Given the description of an element on the screen output the (x, y) to click on. 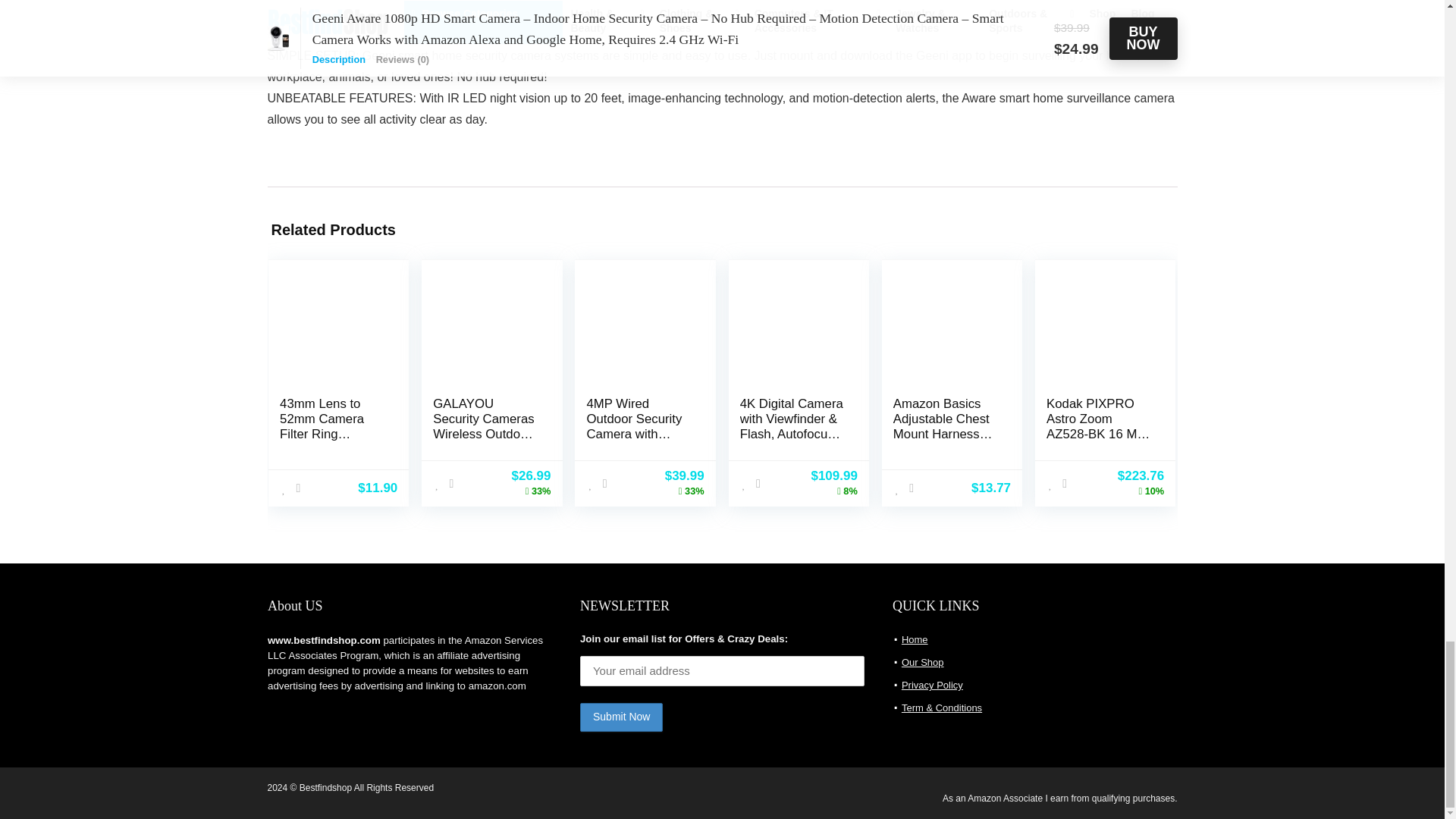
Submit Now (620, 717)
